Given the description of an element on the screen output the (x, y) to click on. 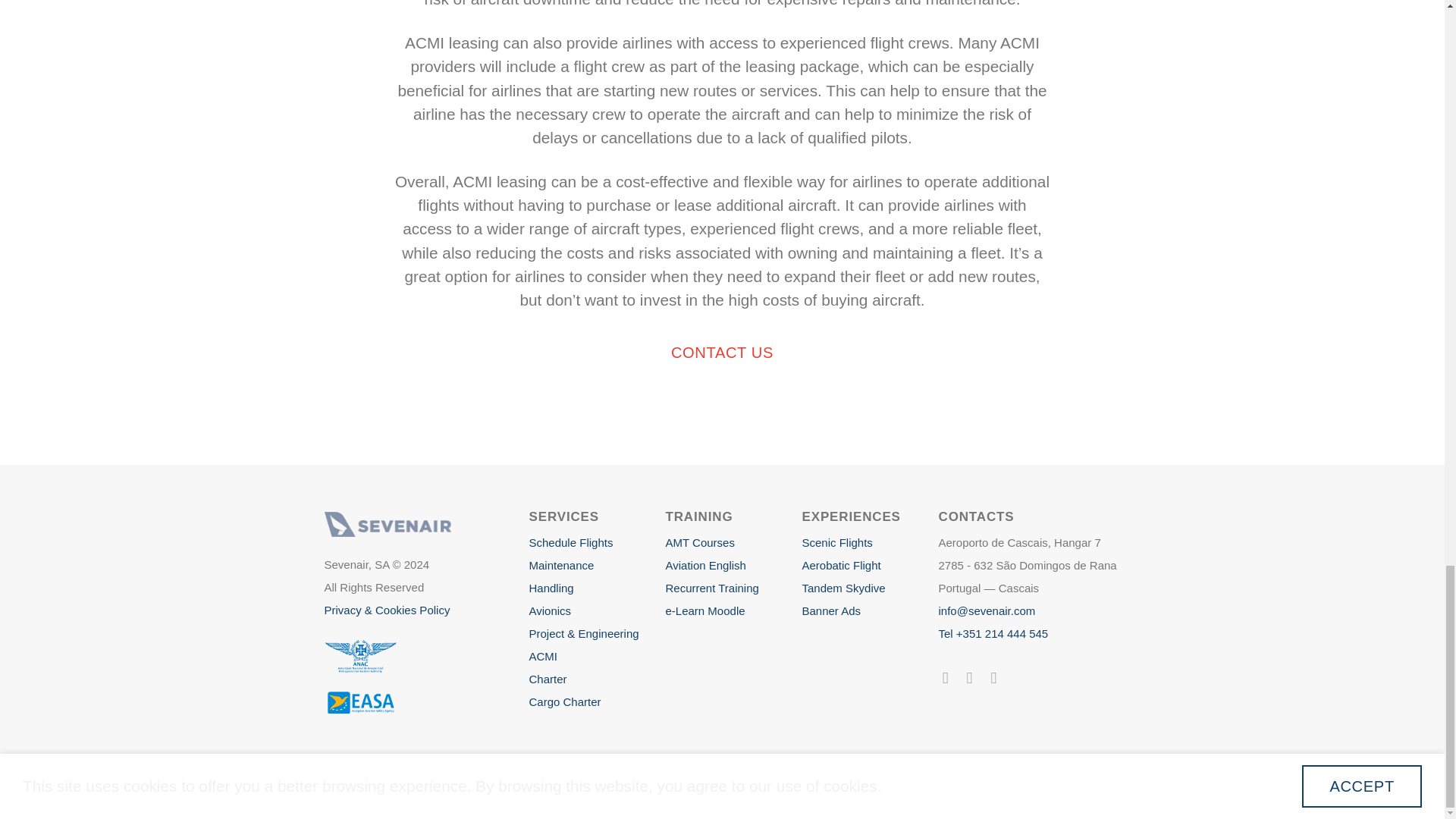
Follow on LinkedIn (998, 677)
Follow on Facebook (950, 677)
CONTACT US (722, 352)
Follow on Instagram (974, 677)
